Given the description of an element on the screen output the (x, y) to click on. 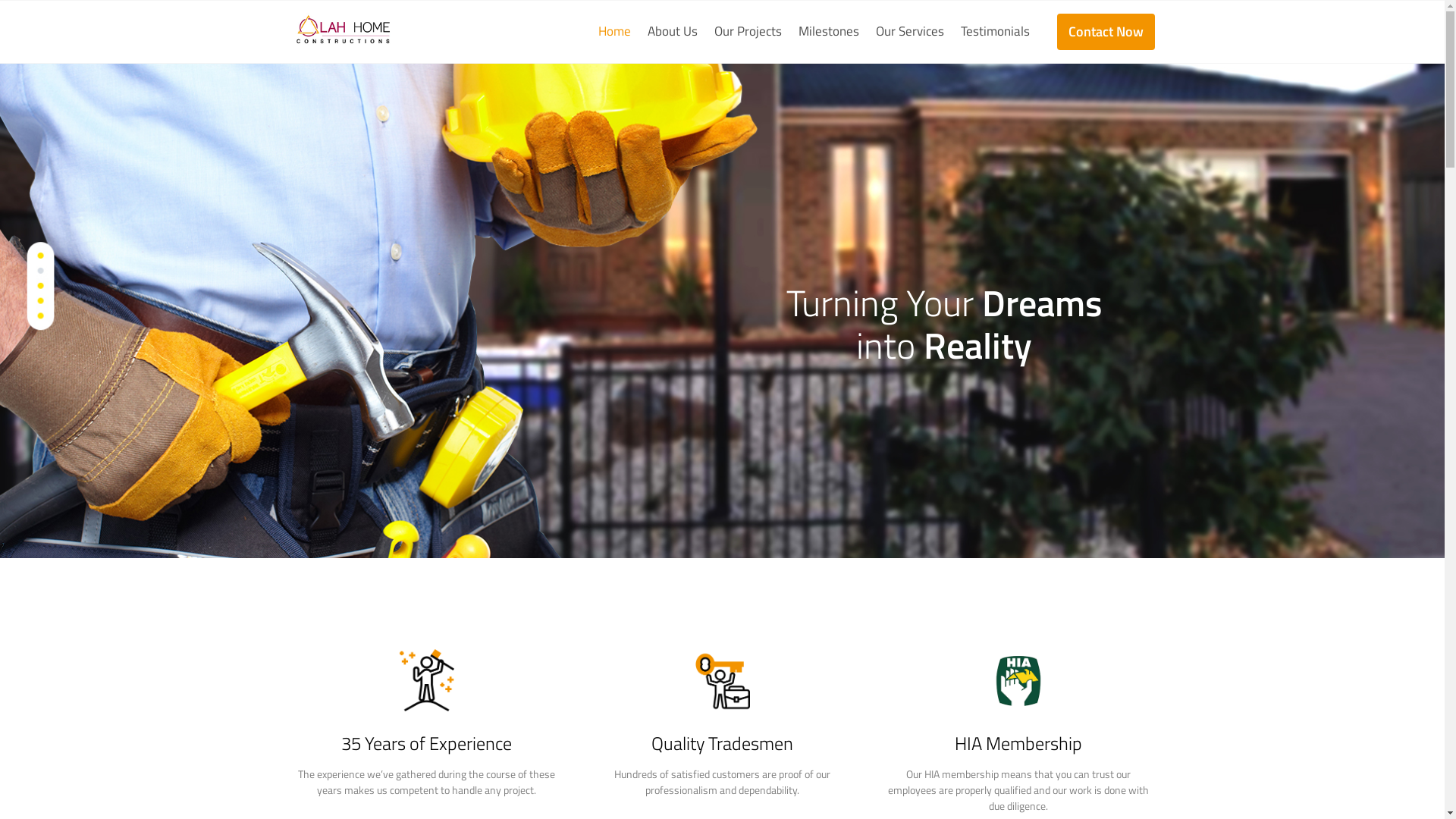
Testimonials Element type: text (995, 31)
About Us Element type: text (671, 31)
Our Projects Element type: text (747, 31)
Milestones Element type: text (828, 31)
Contact Now Element type: text (1105, 31)
Home Element type: text (617, 31)
Our Services Element type: text (909, 31)
